Given the description of an element on the screen output the (x, y) to click on. 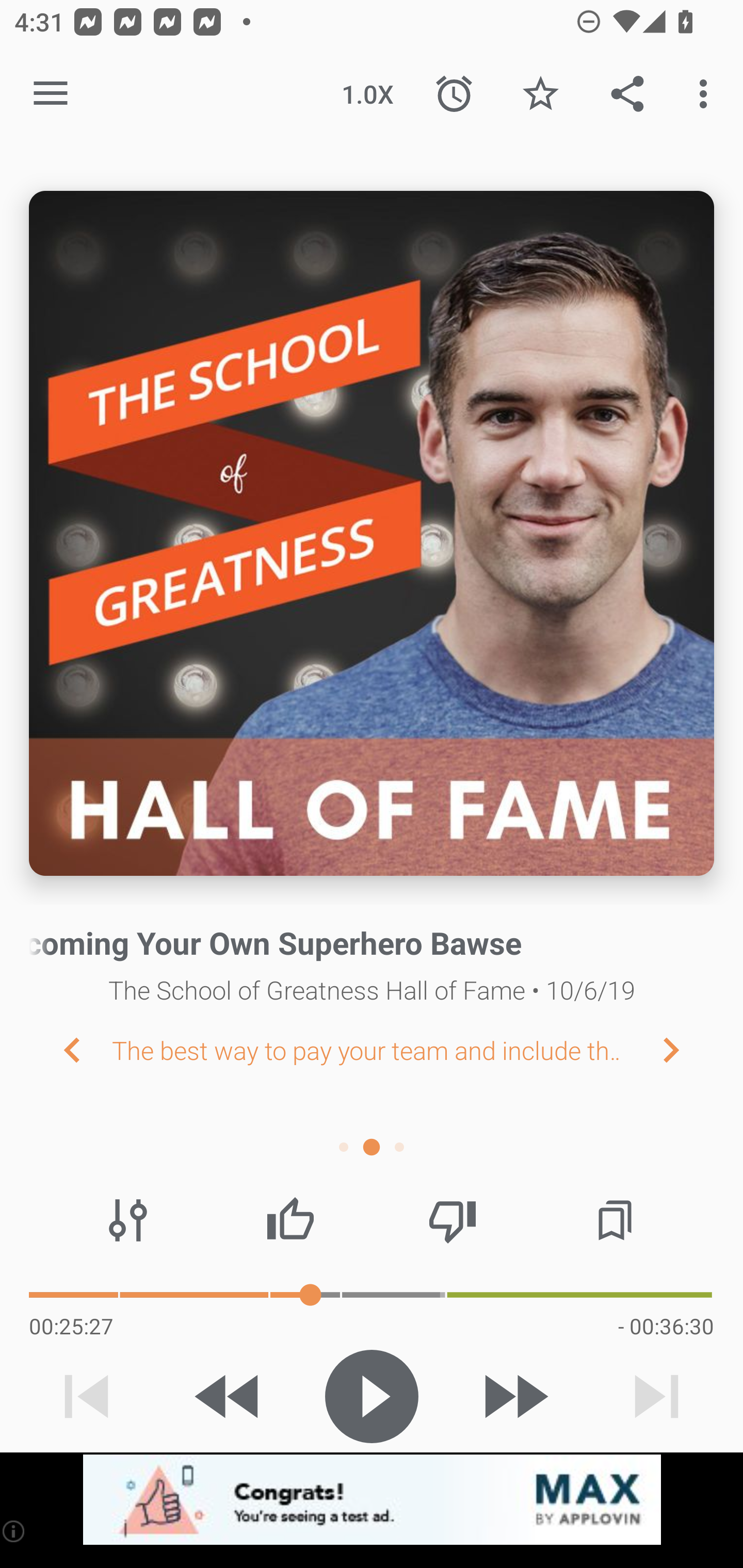
Open navigation sidebar (50, 93)
1.0X (366, 93)
Sleep Timer (453, 93)
Favorite (540, 93)
Share (626, 93)
More options (706, 93)
Episode description (371, 533)
Previous Chapter (56, 1049)
Next Chapter (686, 1049)
Audio effects (127, 1220)
Thumbs up (290, 1220)
Thumbs down (452, 1220)
Chapters / Bookmarks (614, 1220)
- 00:36:30 (666, 1325)
Previous track (86, 1395)
Skip 15s backward (228, 1395)
Play / Pause (371, 1395)
Skip 30s forward (513, 1395)
Next track (656, 1395)
app-monetization (371, 1500)
(i) (14, 1531)
